Given the description of an element on the screen output the (x, y) to click on. 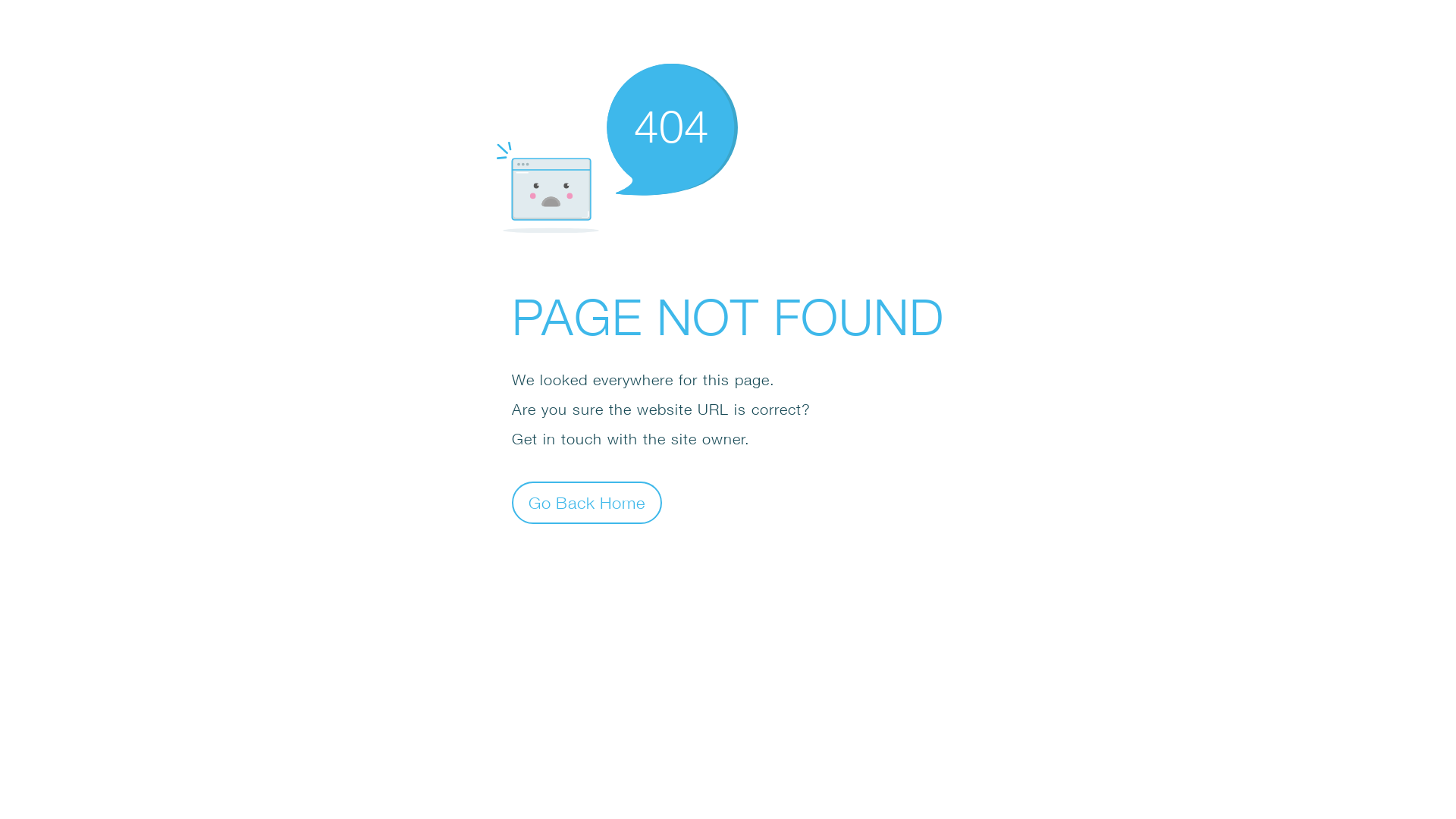
Go Back Home Element type: text (586, 502)
